Given the description of an element on the screen output the (x, y) to click on. 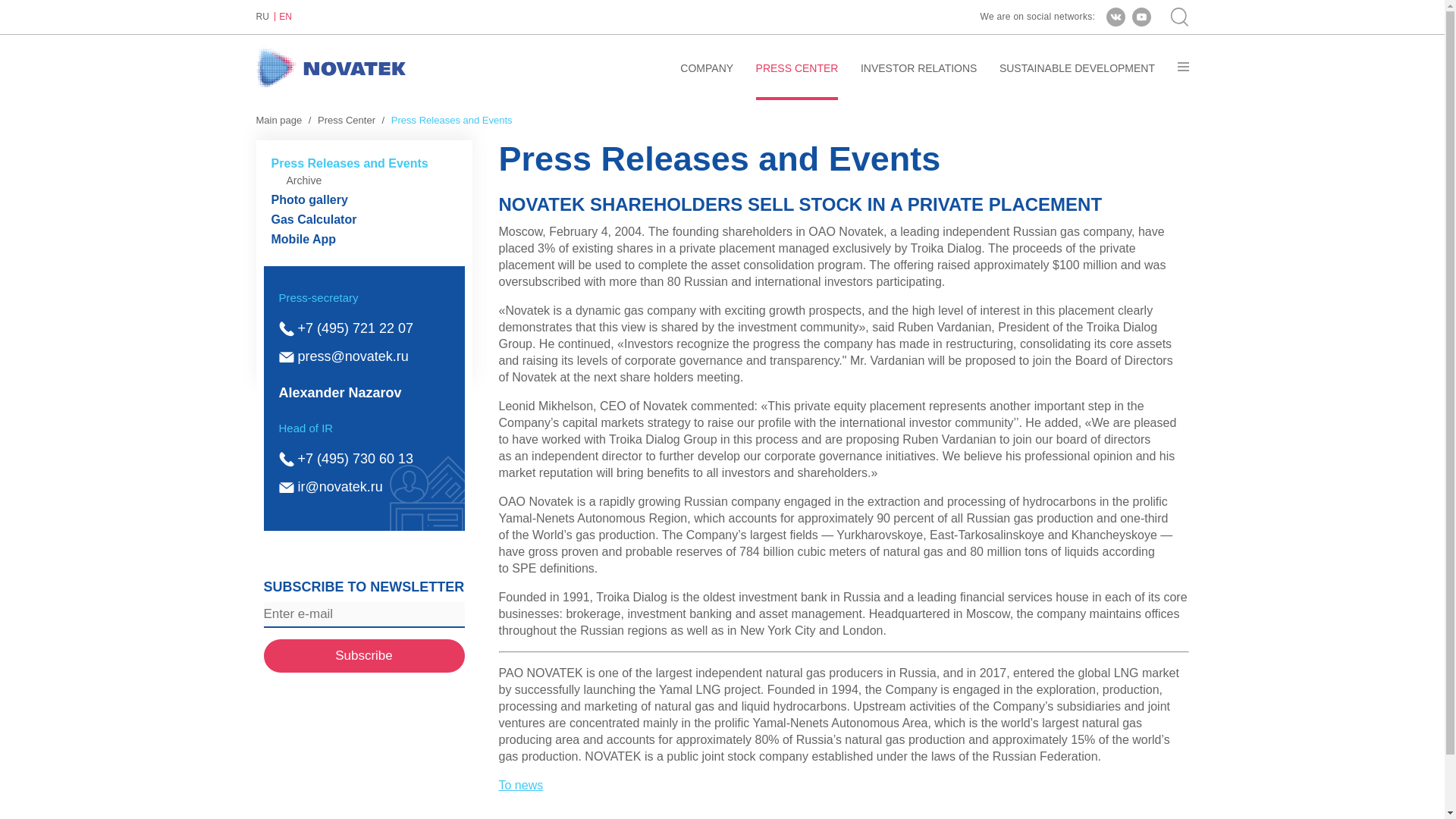
COMPANY (706, 80)
SUSTAINABLE DEVELOPMENT (1076, 80)
RU (266, 17)
EN (285, 17)
Subscribe (363, 655)
PRESS CENTER (796, 80)
INVESTOR RELATIONS (918, 80)
